Given the description of an element on the screen output the (x, y) to click on. 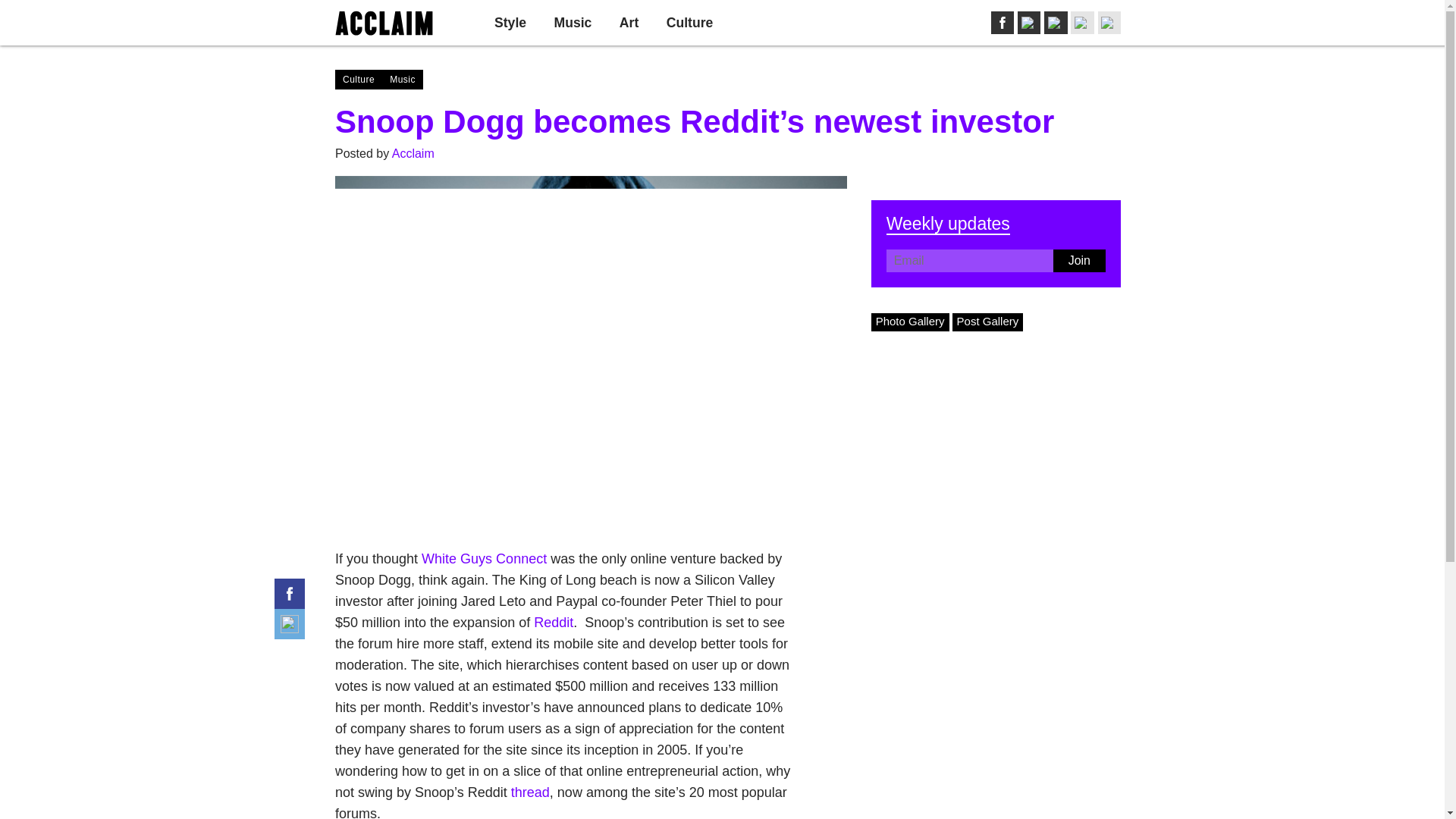
See all Style posts (510, 22)
Advertise (1034, 22)
Search (1075, 22)
Join (892, 22)
Art (629, 22)
Search (1075, 22)
Acclaim (412, 153)
See all Music posts (573, 22)
Privacy Policy (1106, 22)
Join (1078, 260)
Contact (977, 22)
Music (573, 22)
Contact Us (977, 22)
Privacy Policy (1106, 22)
See all Culture posts (689, 22)
